Given the description of an element on the screen output the (x, y) to click on. 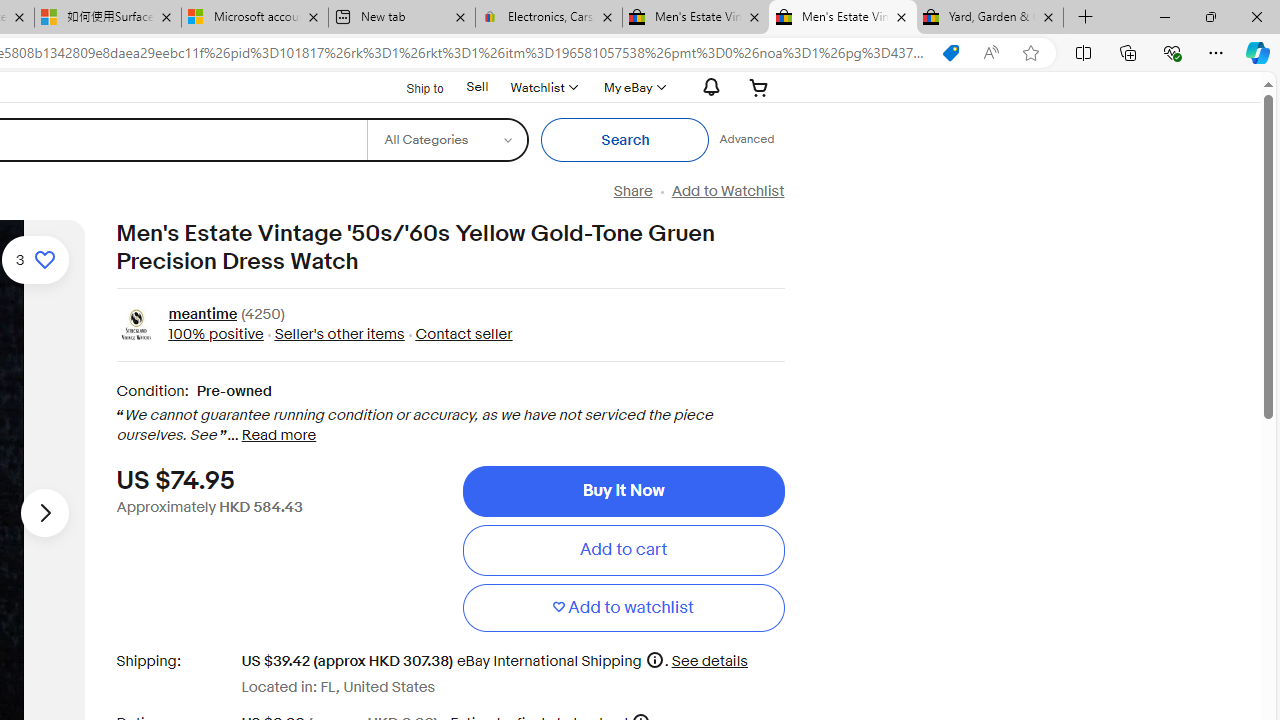
Add to Watchlist (727, 191)
AutomationID: gh-eb-Alerts (708, 87)
100% positive (215, 334)
  Seller's other items (333, 334)
Contact seller (463, 334)
WatchlistExpand Watch List (543, 87)
See details for shipping (708, 660)
Ship to (412, 85)
100% positive (215, 334)
meantime (202, 315)
Advanced Search (746, 139)
Add to watchlist (623, 607)
Ship to (412, 88)
